Given the description of an element on the screen output the (x, y) to click on. 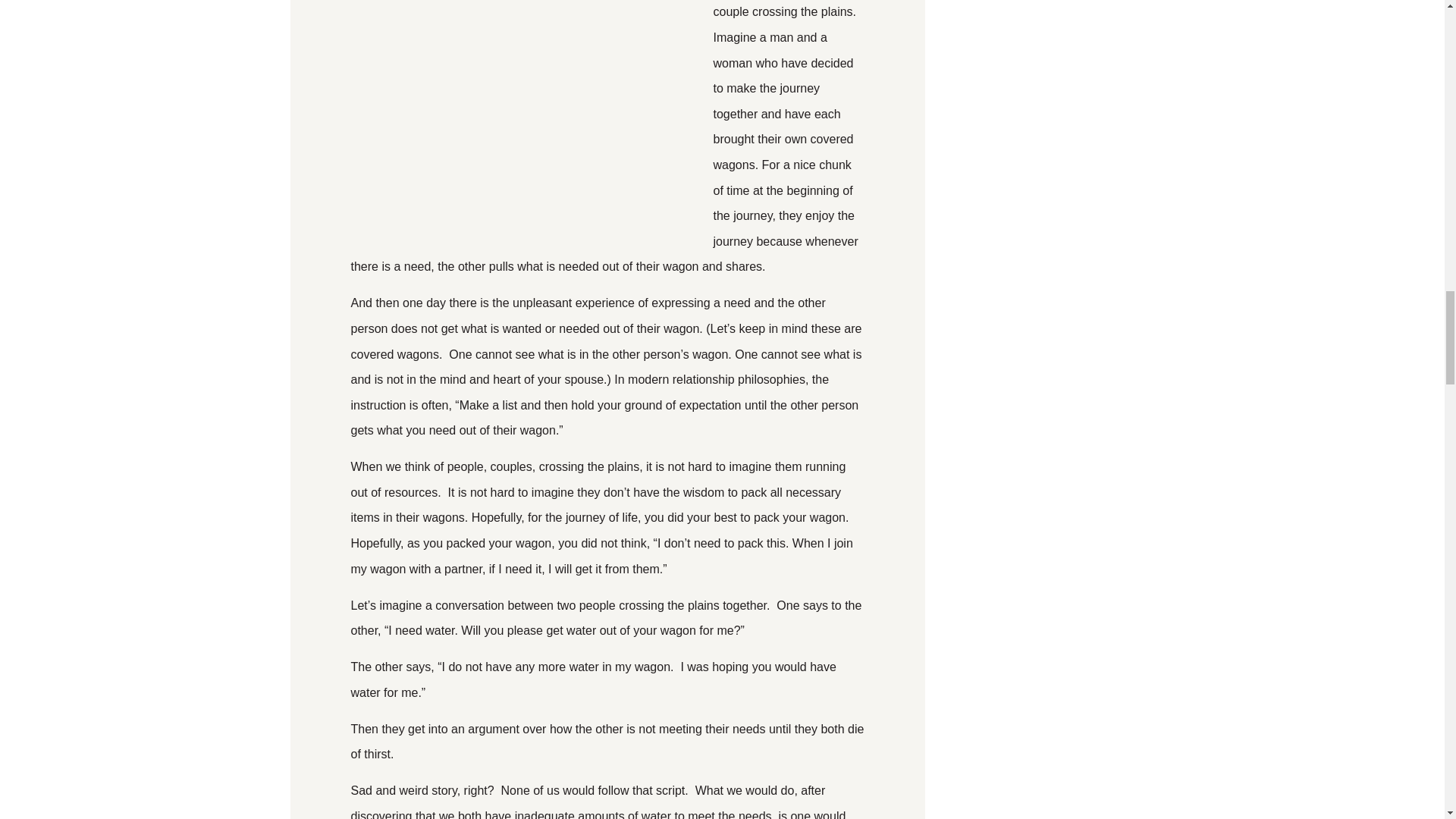
What To Do When You Have an Inadequate Spouse (525, 124)
